Given the description of an element on the screen output the (x, y) to click on. 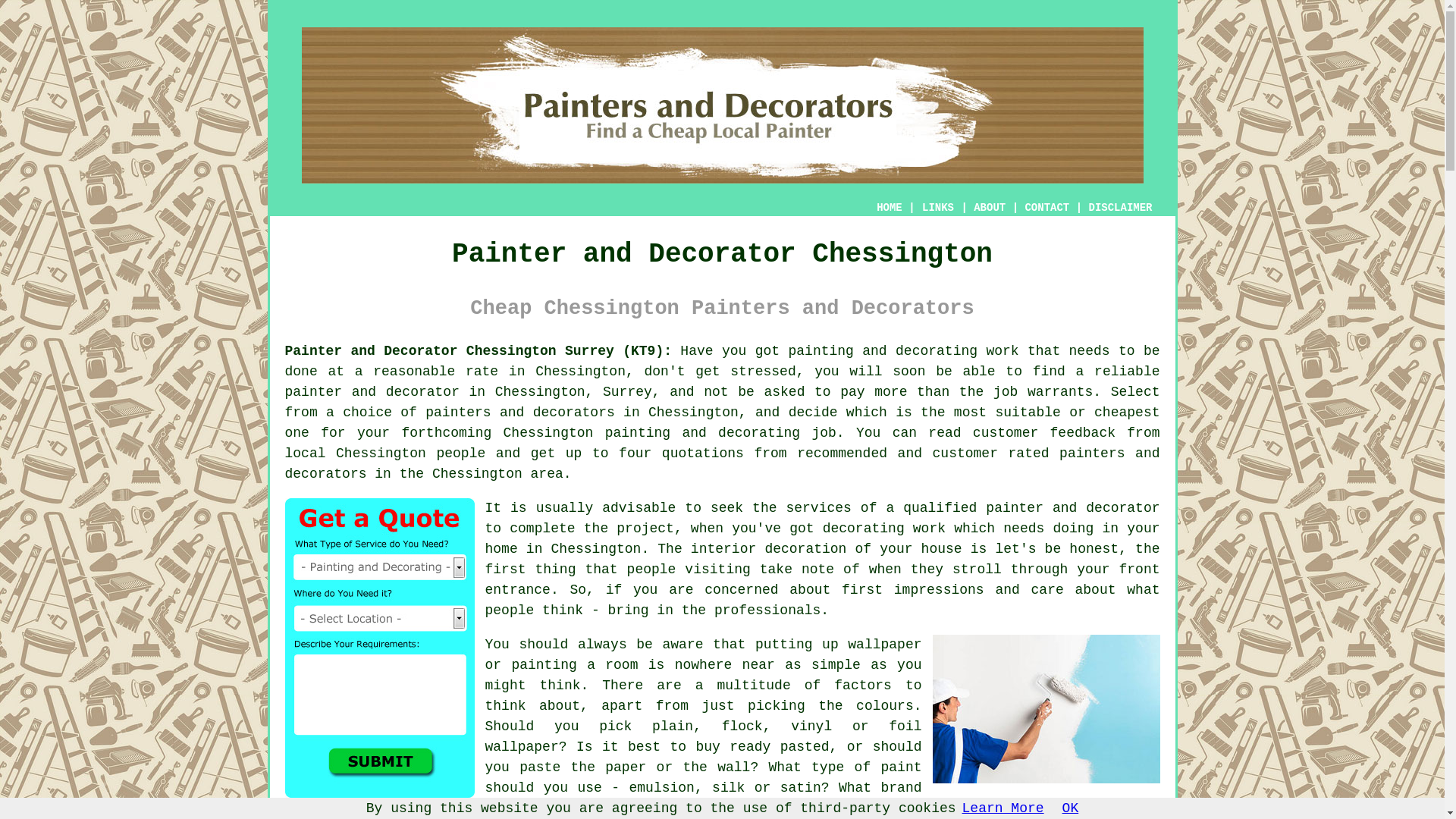
painters and decorators (519, 412)
painter and decorator (372, 391)
LINKS (938, 207)
HOME (889, 207)
